Given the description of an element on the screen output the (x, y) to click on. 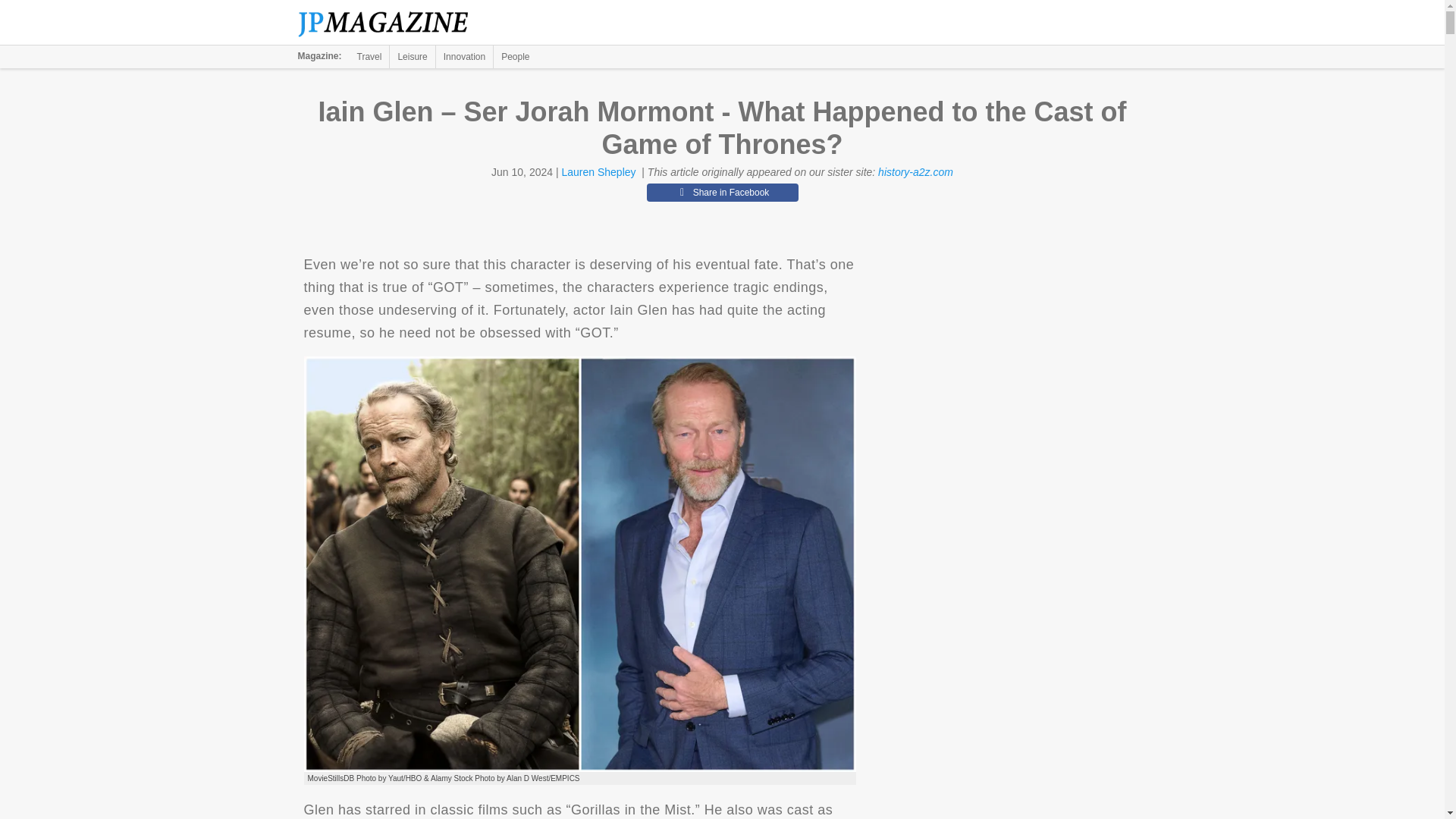
Lauren Shepley (597, 172)
The Jerusalem Post Magazine (391, 22)
Innovation (464, 56)
People (515, 56)
Share in Facebook (721, 192)
Travel (369, 56)
history-a2z.com (915, 172)
Leisure (411, 56)
